Given the description of an element on the screen output the (x, y) to click on. 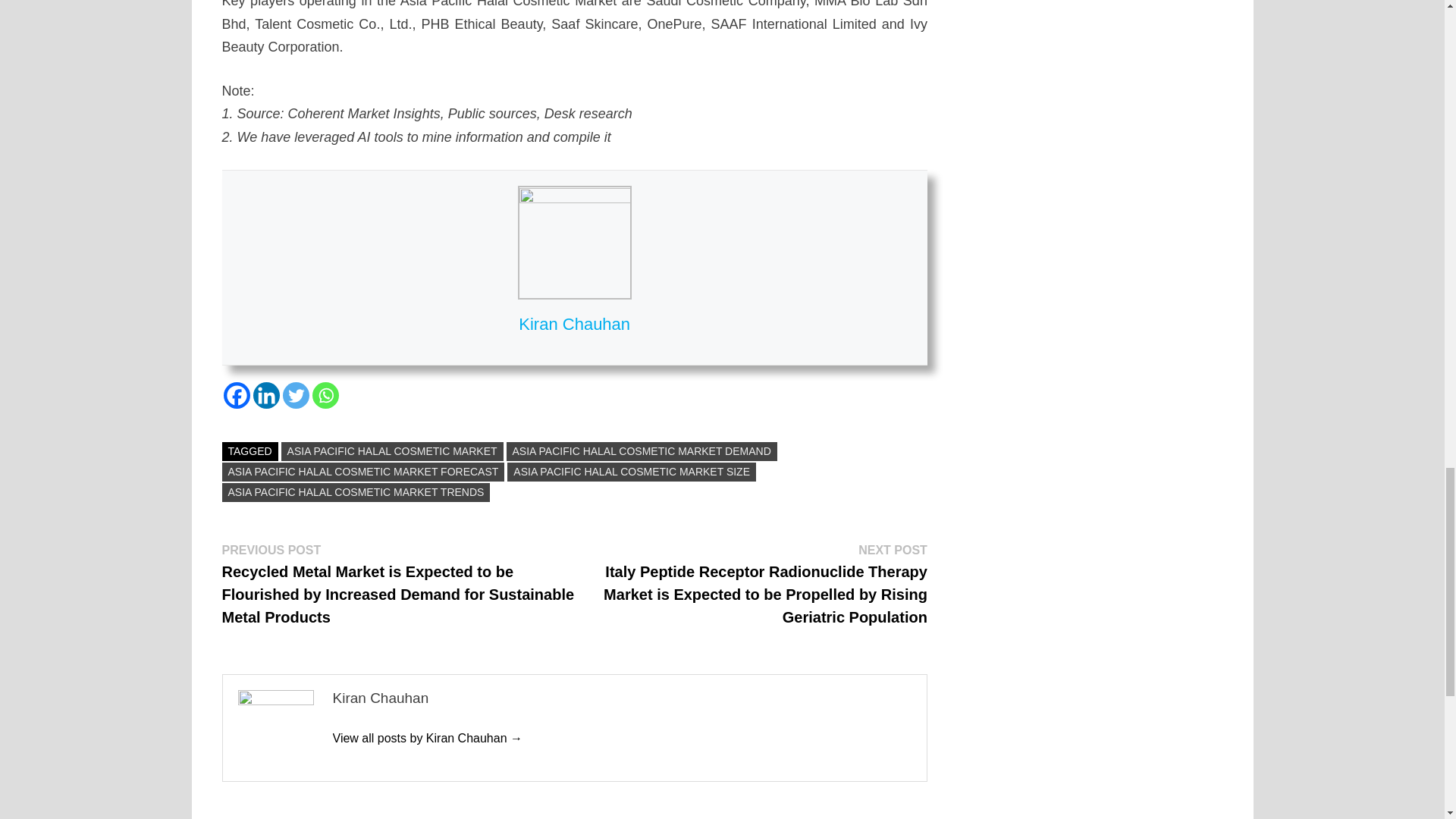
Facebook (235, 395)
Linkedin (266, 395)
Kiran Chauhan (426, 738)
Whatsapp (326, 395)
Twitter (295, 395)
